Given the description of an element on the screen output the (x, y) to click on. 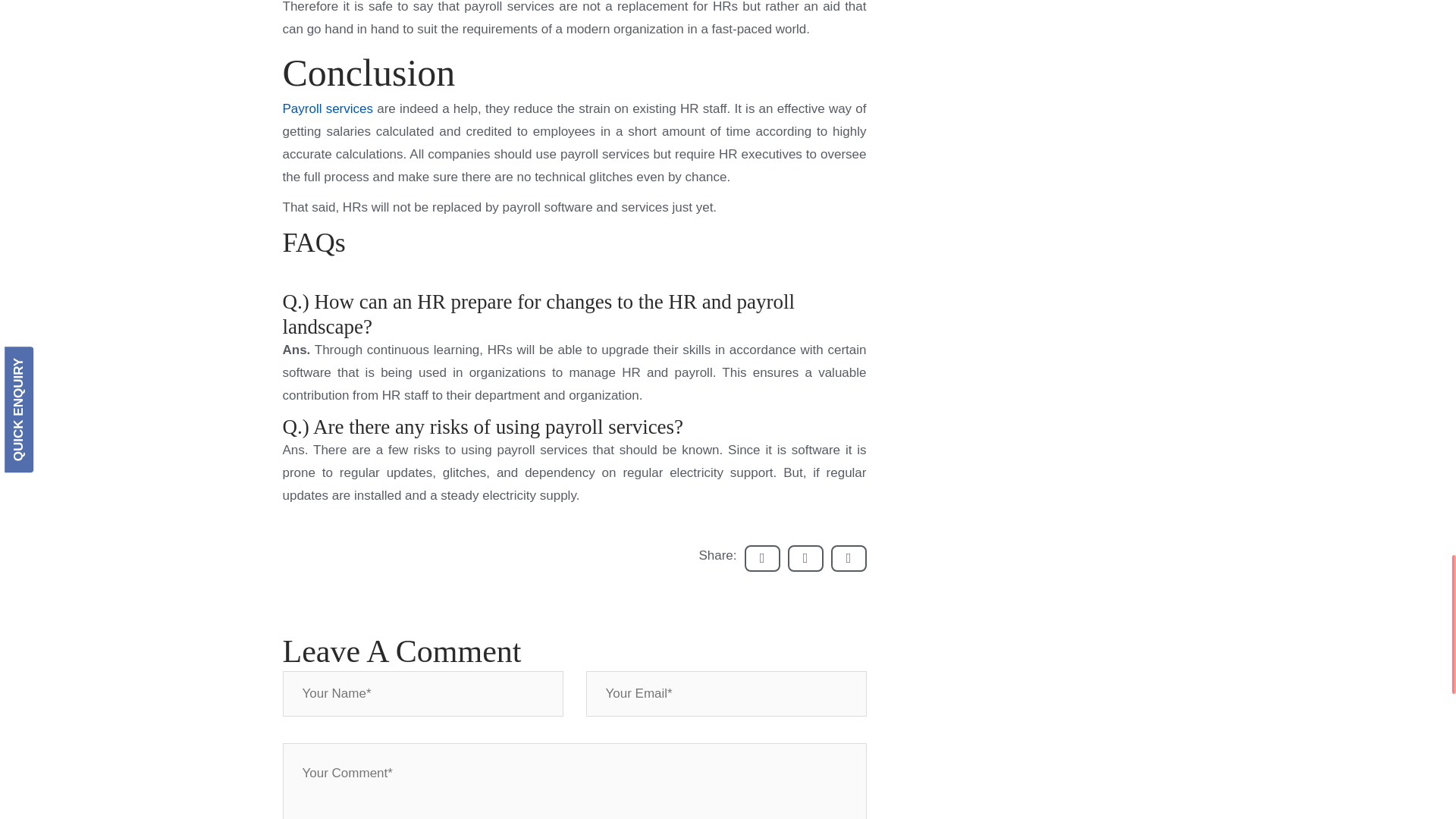
Share with Twitter (804, 558)
Share with Facebook (762, 558)
Share with LinkedIn (848, 558)
Payroll services (327, 108)
